Given the description of an element on the screen output the (x, y) to click on. 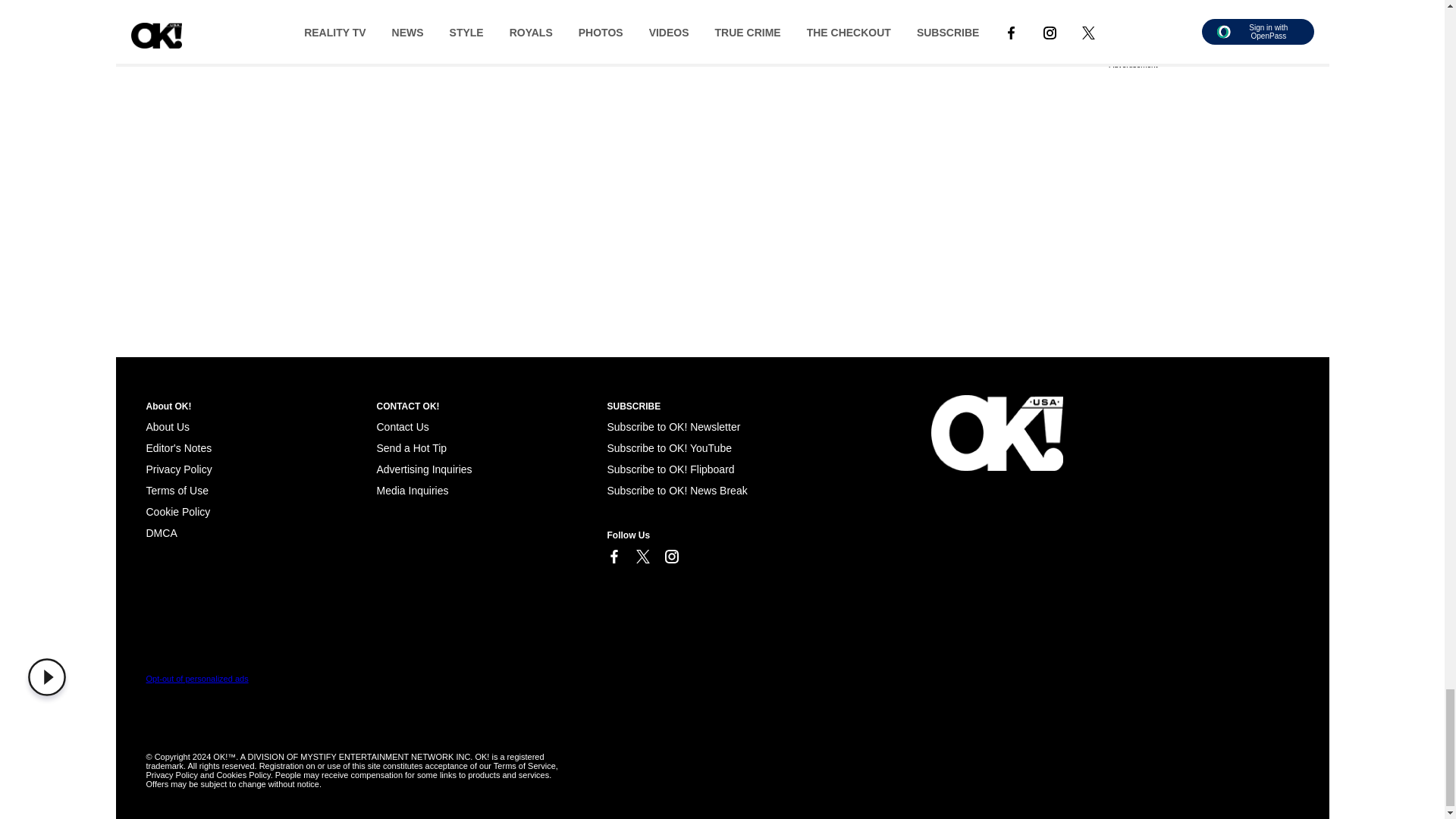
Terms of Use (176, 490)
About Us (167, 426)
Link to X (641, 556)
Editor's Notes (178, 448)
Link to Instagram (670, 556)
Cookie Policy (177, 511)
Link to Facebook (613, 556)
Privacy Policy (178, 469)
